Given the description of an element on the screen output the (x, y) to click on. 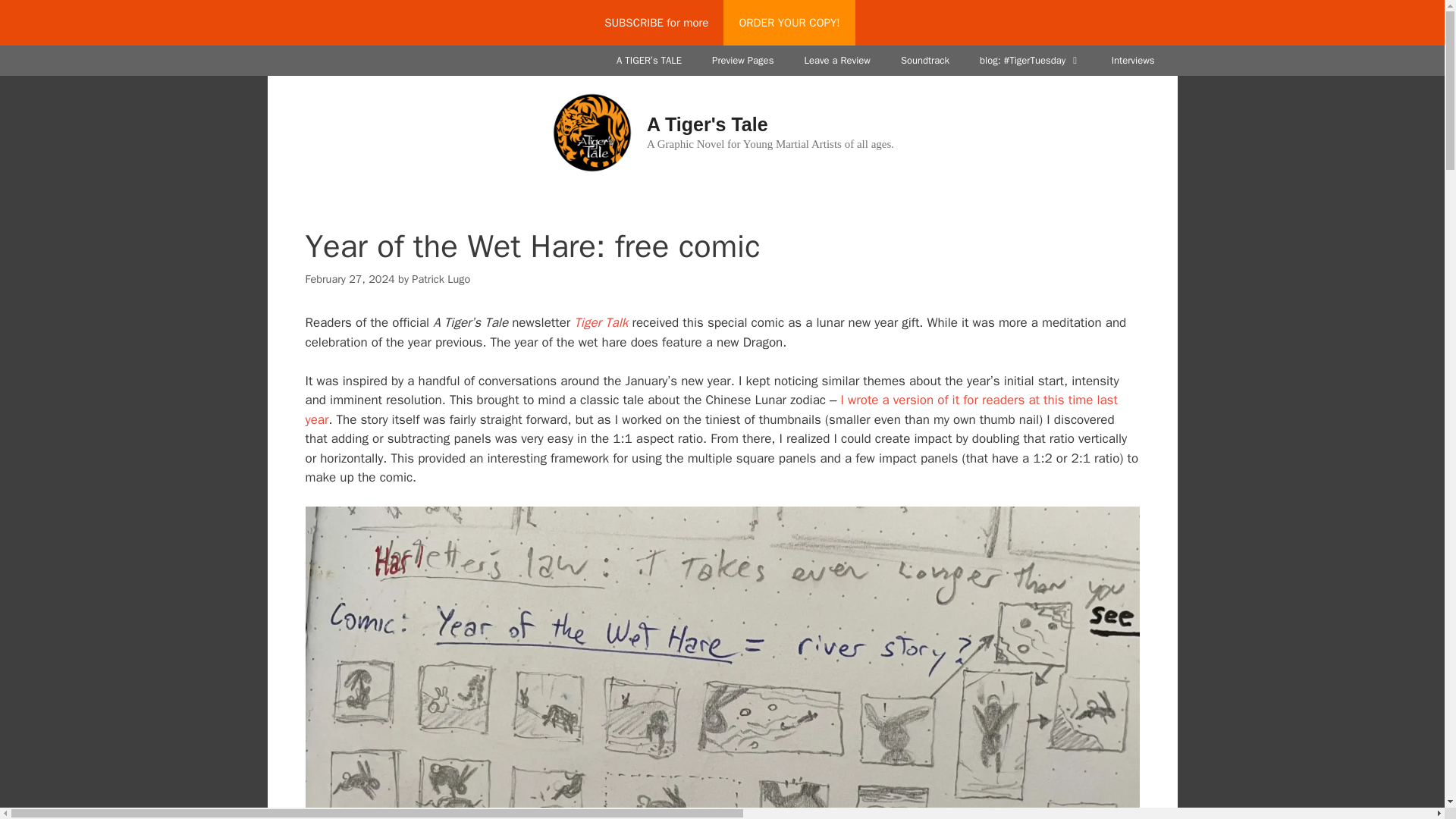
Soundtrack (924, 60)
Tiger Talk (600, 322)
View all posts by Patrick Lugo (441, 278)
A Tiger's Tale (707, 124)
Interviews (1133, 60)
A Tiger's Tale (591, 131)
ORDER YOUR COPY! (788, 22)
Patrick Lugo (441, 278)
I wrote a version of it for readers at this time last year (710, 409)
A Tiger's Tale (591, 132)
Preview Pages (743, 60)
SUBSCRIBE for more (656, 22)
Leave a Review (837, 60)
